Given the description of an element on the screen output the (x, y) to click on. 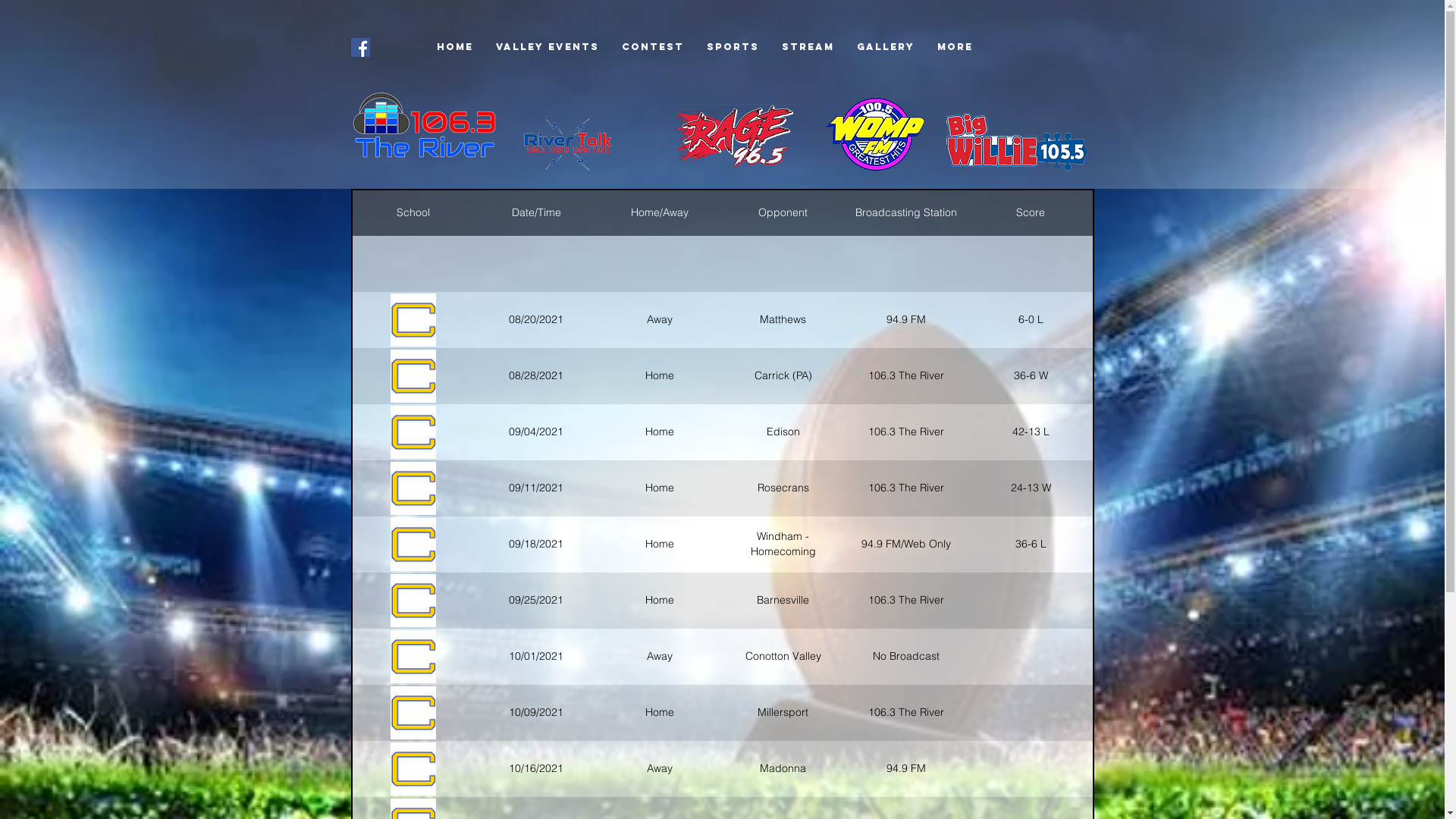
GALLERY Element type: text (884, 46)
WOMP-FM_edited.png Element type: hover (854, 122)
HOME Element type: text (453, 46)
willie clear.png Element type: hover (1014, 143)
VALLEY EVENTS Element type: text (546, 46)
CONTEST Element type: text (651, 46)
